Given the description of an element on the screen output the (x, y) to click on. 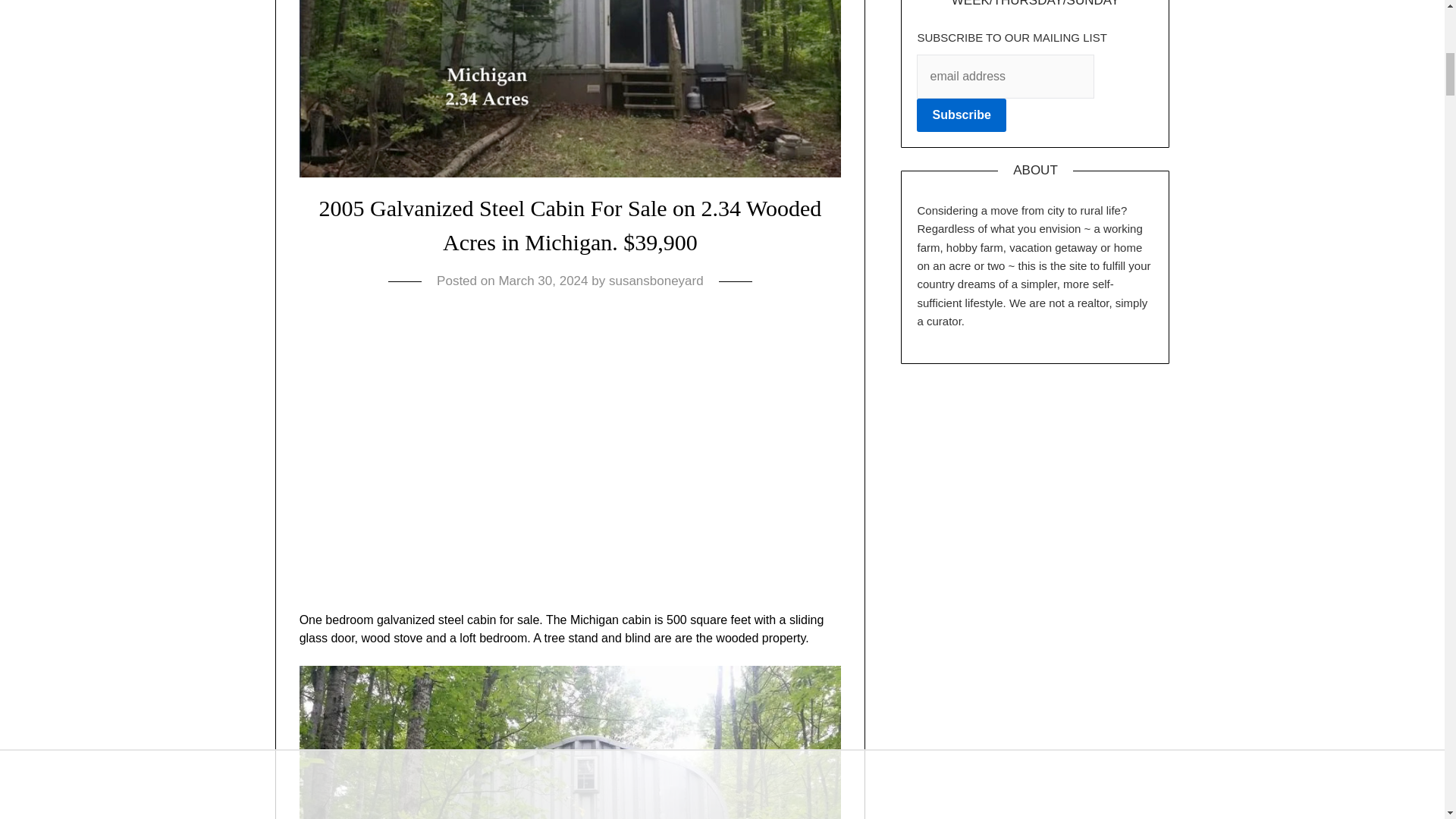
Subscribe (961, 114)
March 30, 2024 (542, 280)
susansboneyard (655, 280)
